Given the description of an element on the screen output the (x, y) to click on. 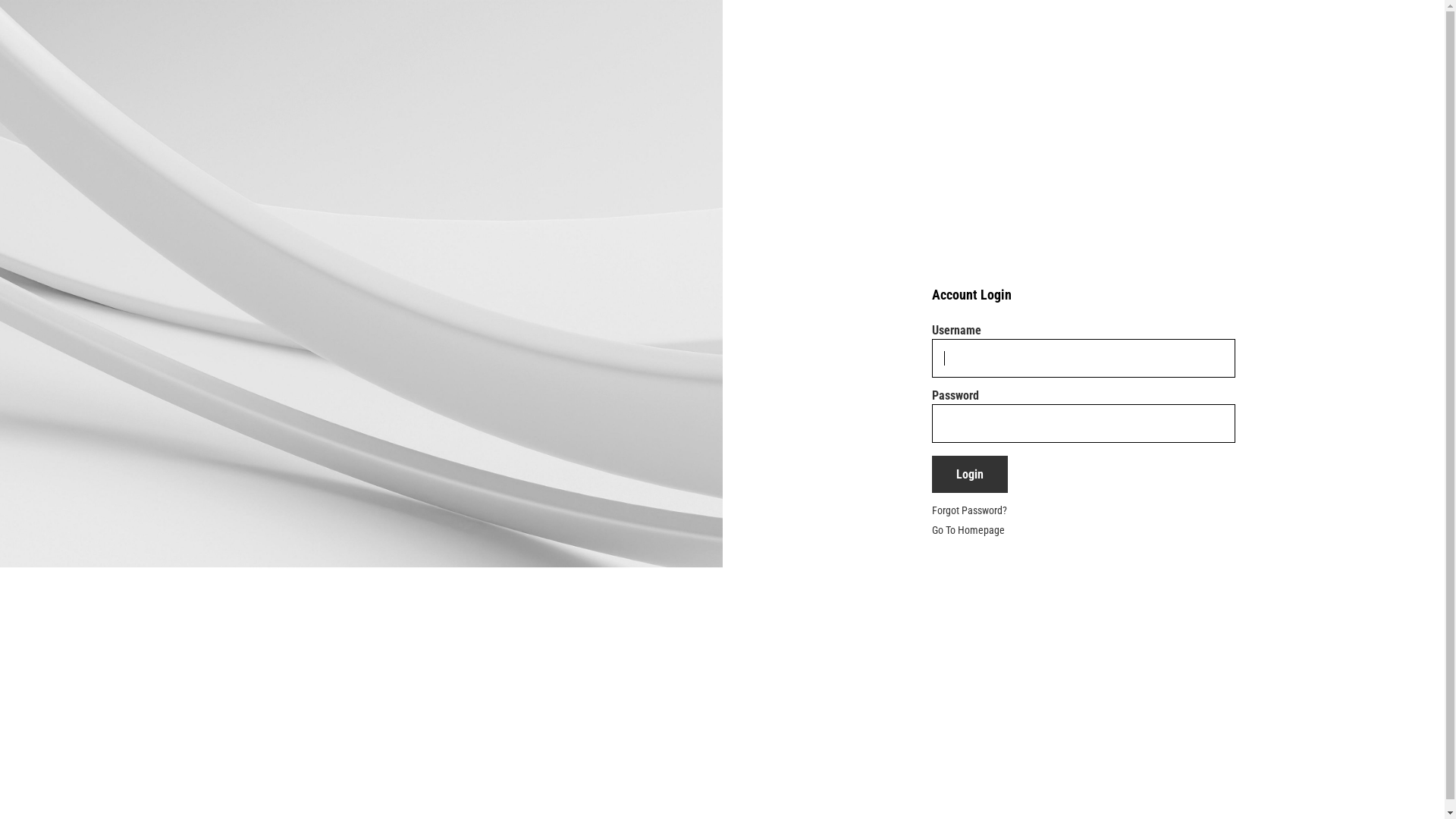
Forgot Password? Element type: text (969, 510)
Login Element type: text (969, 473)
Go To Homepage Element type: text (967, 530)
